Given the description of an element on the screen output the (x, y) to click on. 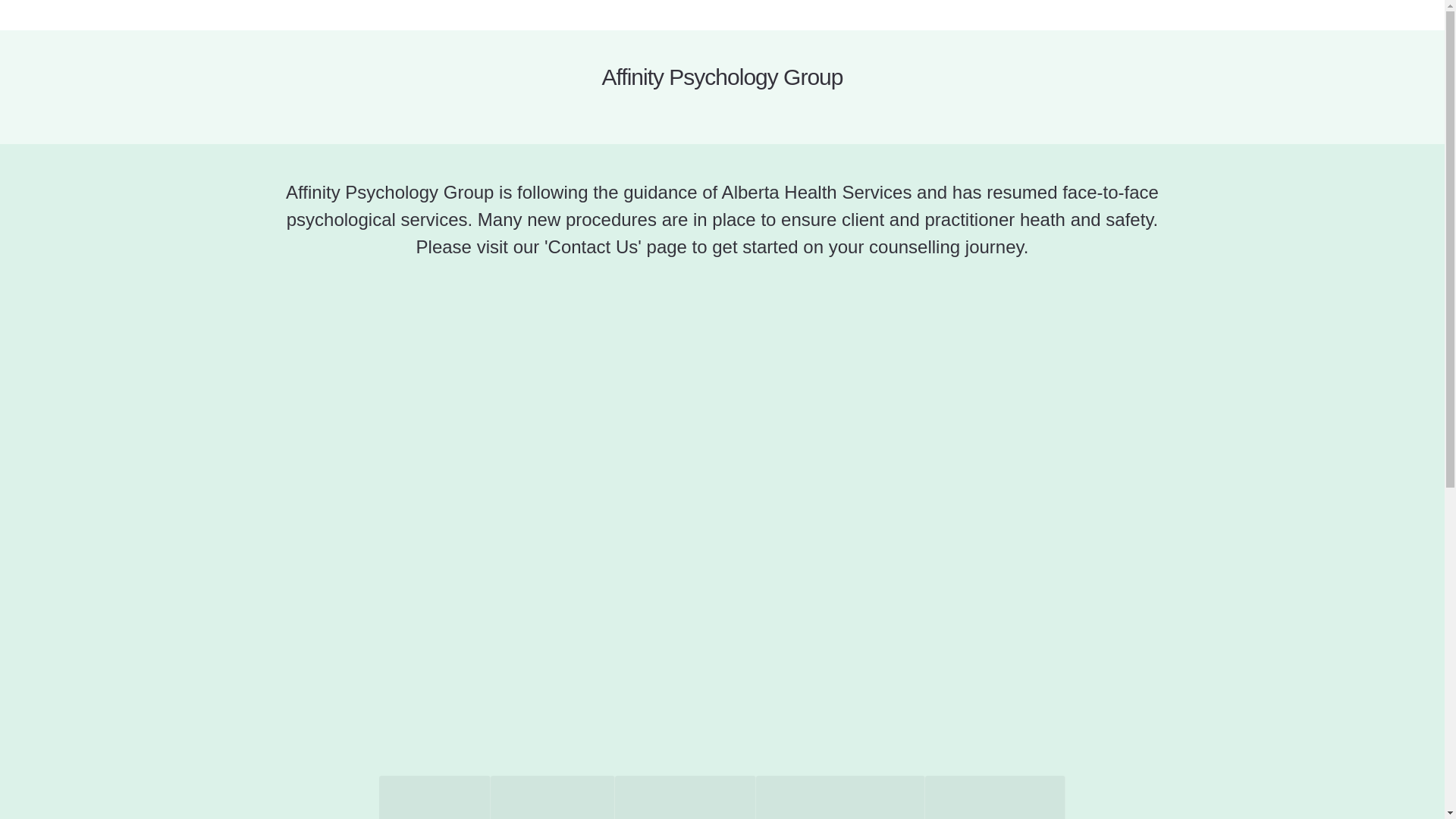
Affinity Psychology Group Element type: text (721, 77)
